Given the description of an element on the screen output the (x, y) to click on. 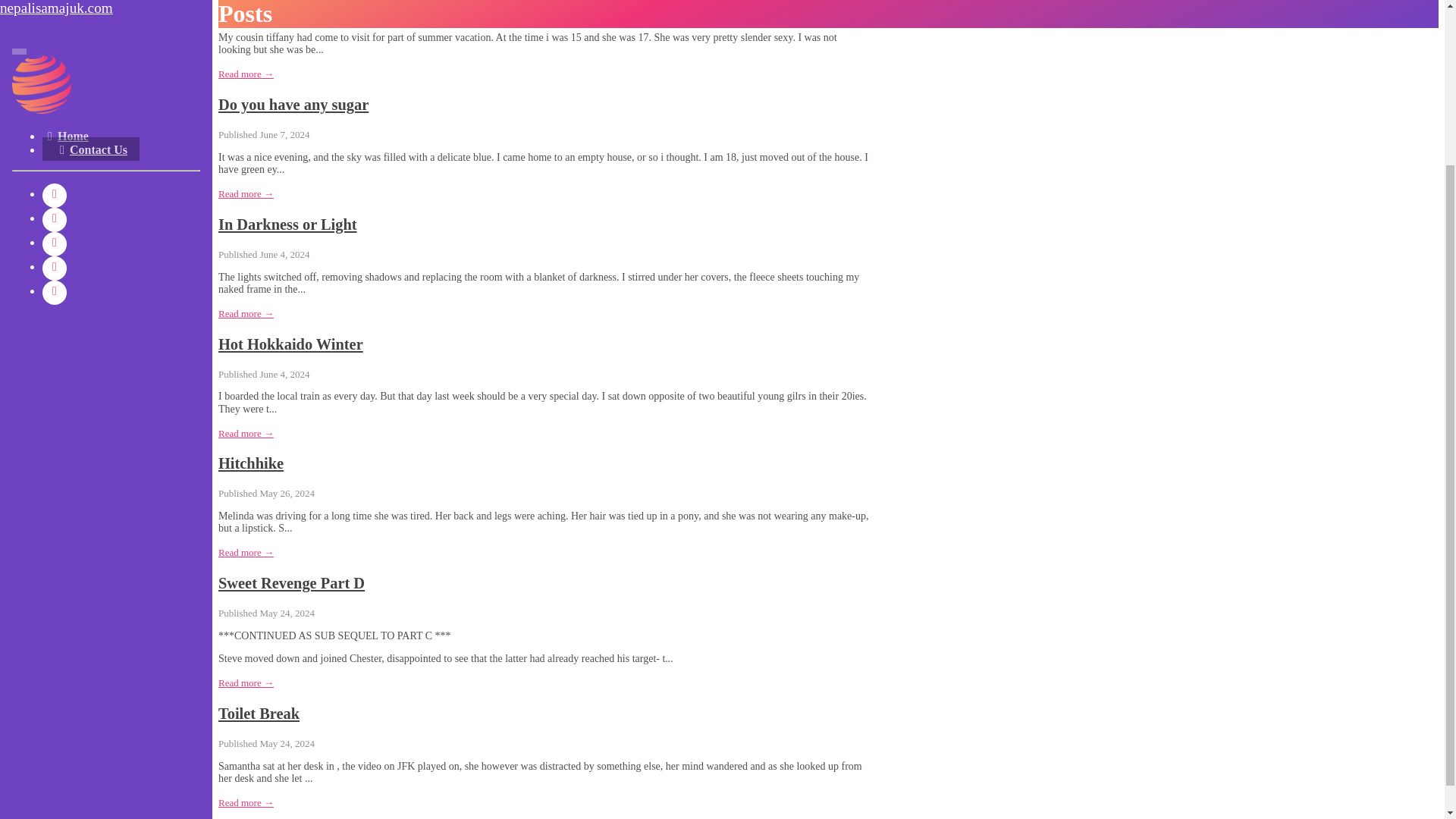
Hitchhike (250, 463)
Do you have any sugar (293, 104)
Toilet Break (258, 713)
Sweet Revenge Part D (291, 582)
In Darkness or Light (287, 224)
Hot Hokkaido Winter (290, 343)
